Given the description of an element on the screen output the (x, y) to click on. 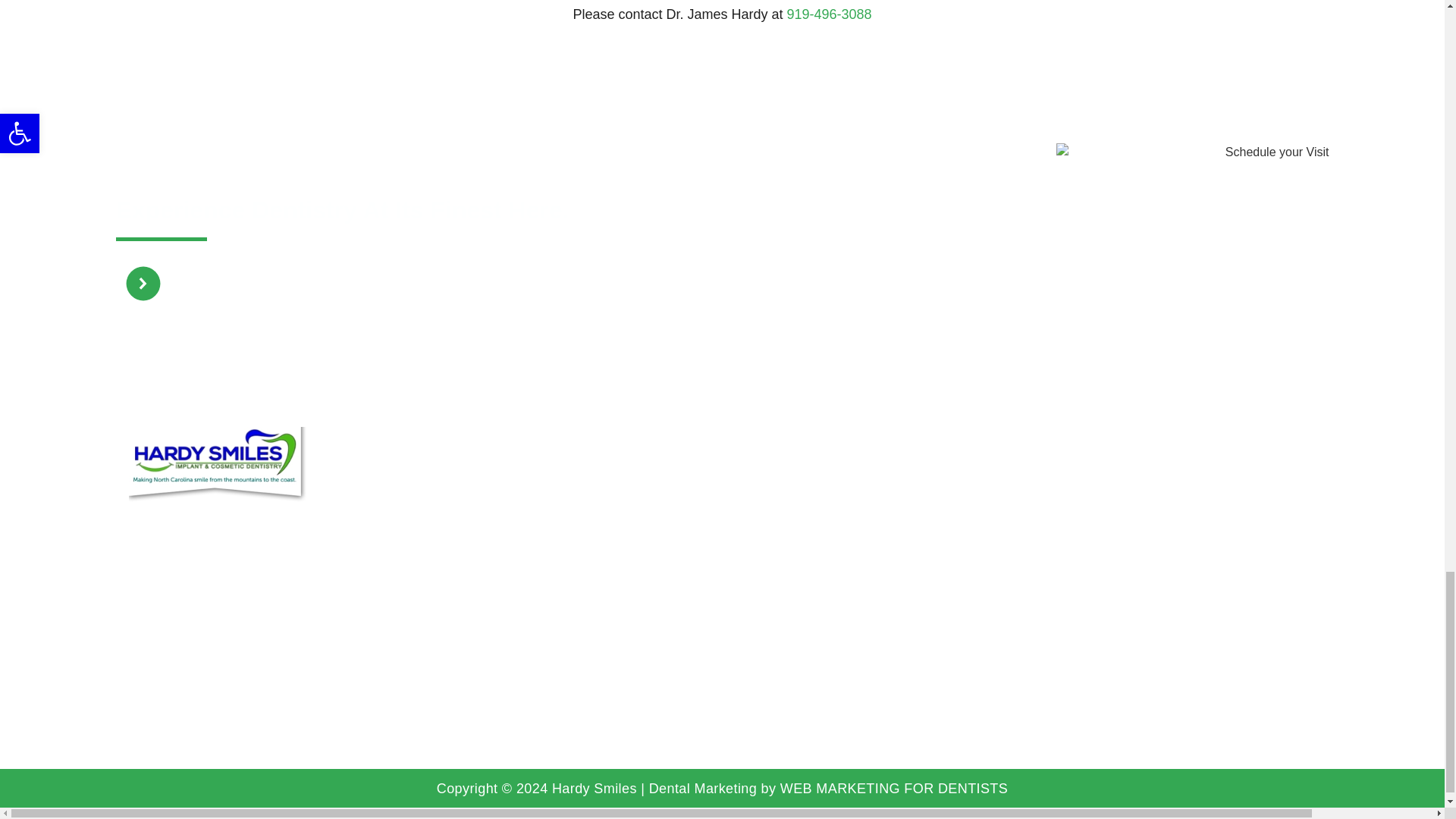
Hardy Family Dentistry: Cosmetic and Implant Dentistry (1149, 540)
